Given the description of an element on the screen output the (x, y) to click on. 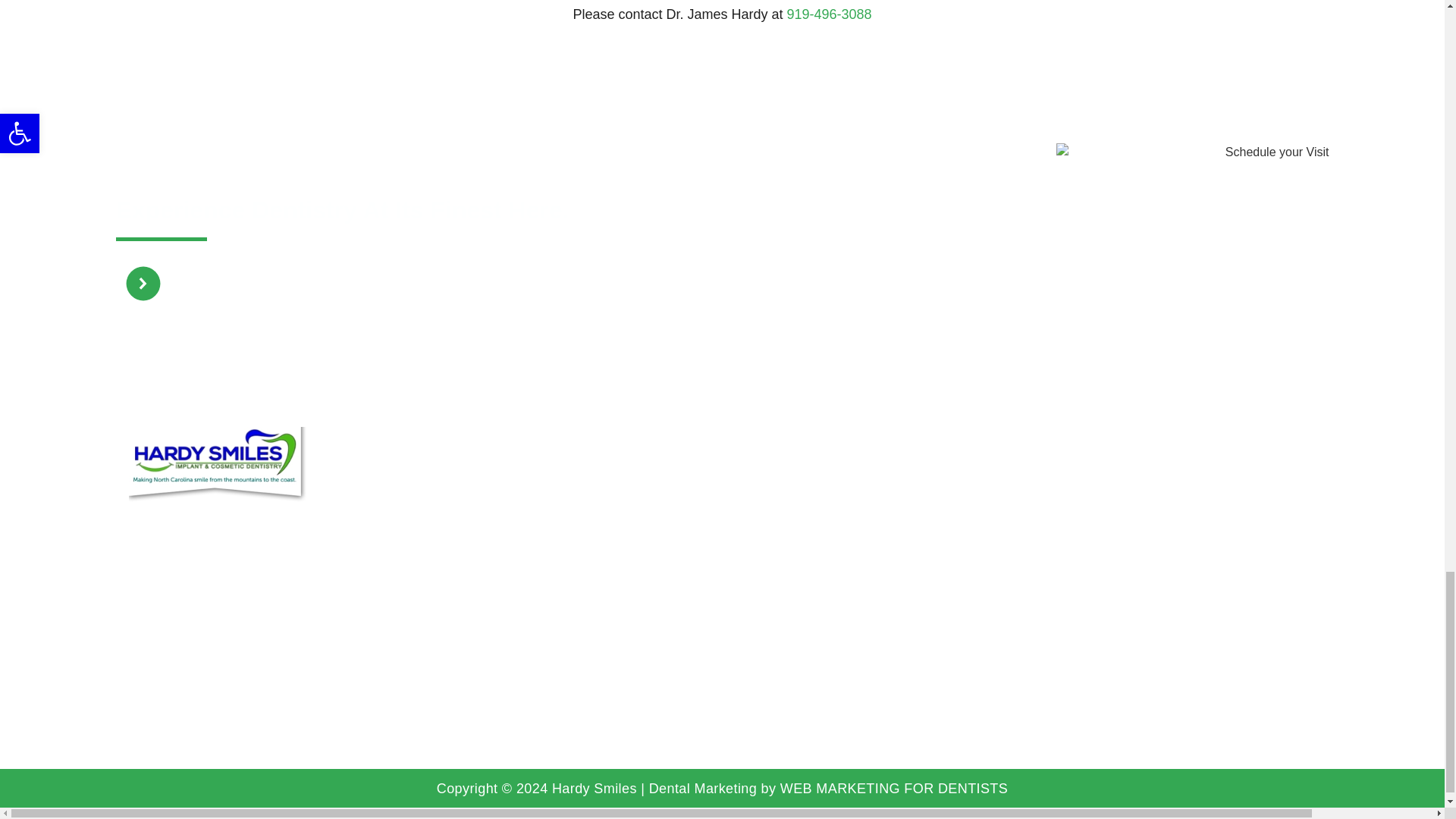
Hardy Family Dentistry: Cosmetic and Implant Dentistry (1149, 540)
